Given the description of an element on the screen output the (x, y) to click on. 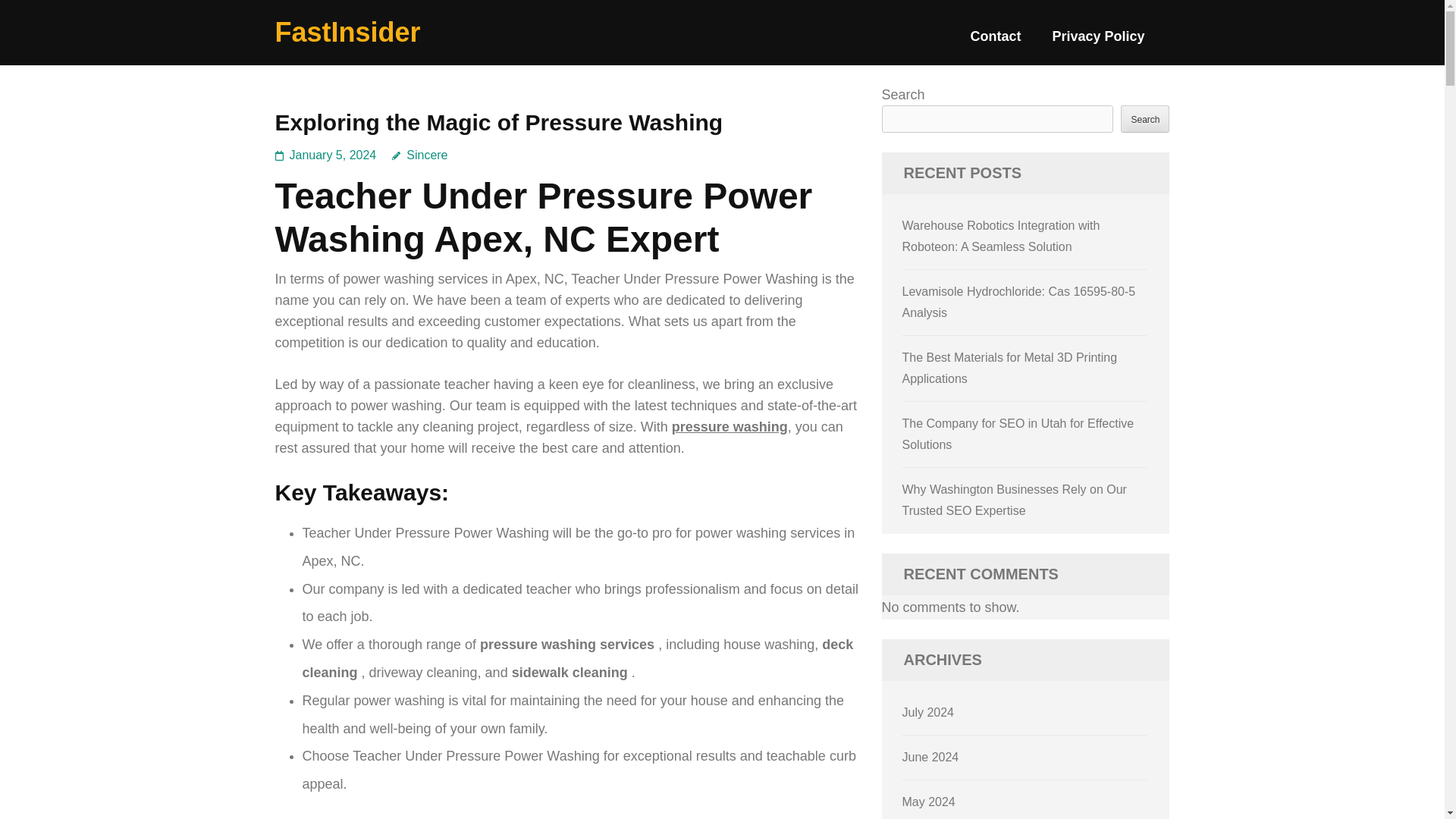
Privacy Policy (1097, 42)
The Best Materials for Metal 3D Printing Applications (1010, 367)
The Company for SEO in Utah for Effective Solutions (1018, 433)
Search (1145, 118)
Sincere (418, 154)
FastInsider (347, 31)
July 2024 (928, 712)
Why Washington Businesses Rely on Our Trusted SEO Expertise (1014, 499)
June 2024 (930, 757)
Levamisole Hydrochloride: Cas 16595-80-5 Analysis (1018, 302)
pressure washing (729, 426)
Contact (994, 42)
May 2024 (928, 801)
January 5, 2024 (333, 154)
